Given the description of an element on the screen output the (x, y) to click on. 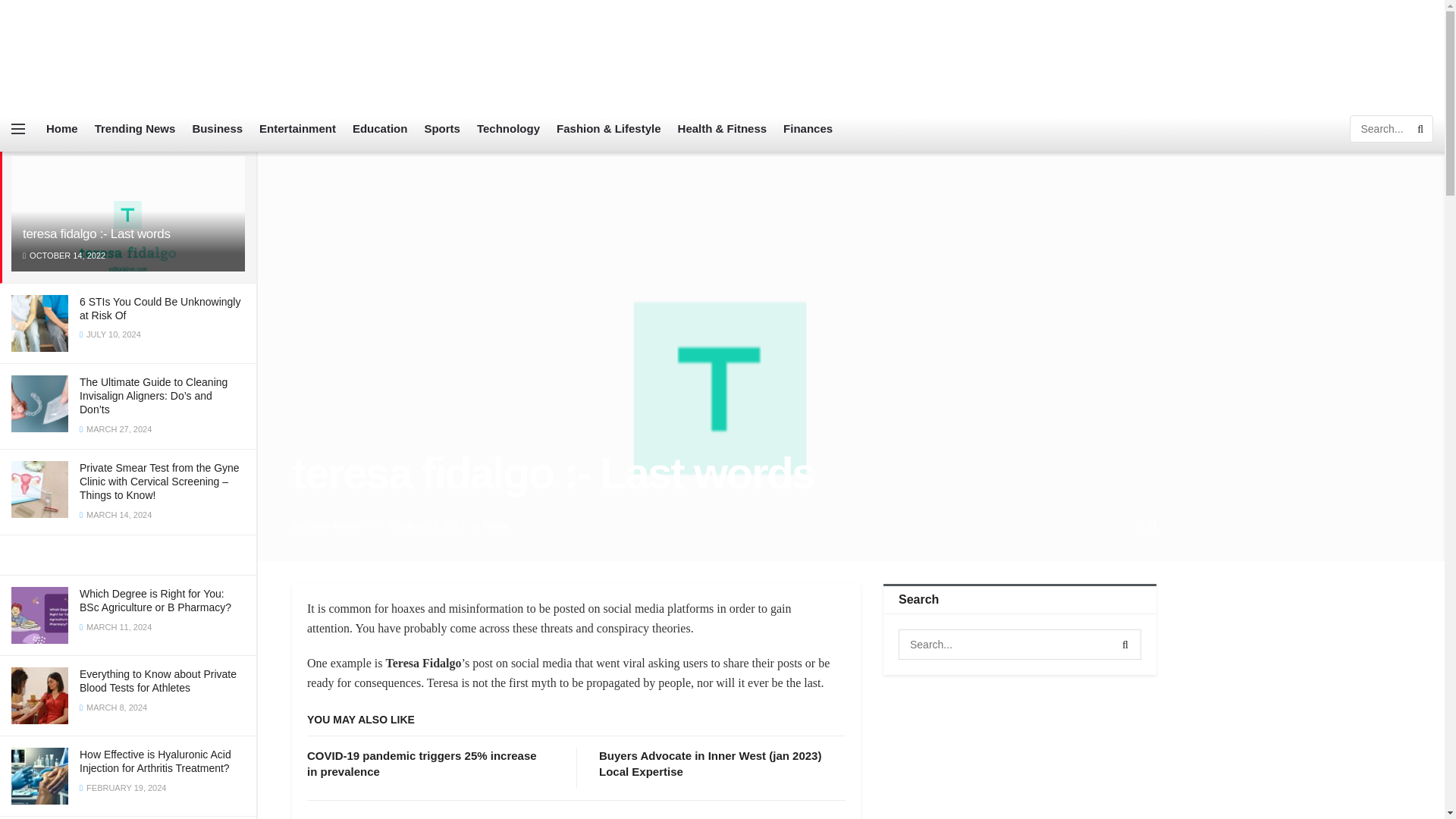
teresa fidalgo :- Last words (96, 233)
Everything to Know about Private Blood Tests for Athletes (157, 680)
Business (217, 128)
Finances (807, 128)
6 STIs You Could Be Unknowingly at Risk Of (160, 308)
Education (379, 128)
Trending News (135, 128)
EditorialNet (118, 53)
Technology (508, 128)
